Given the description of an element on the screen output the (x, y) to click on. 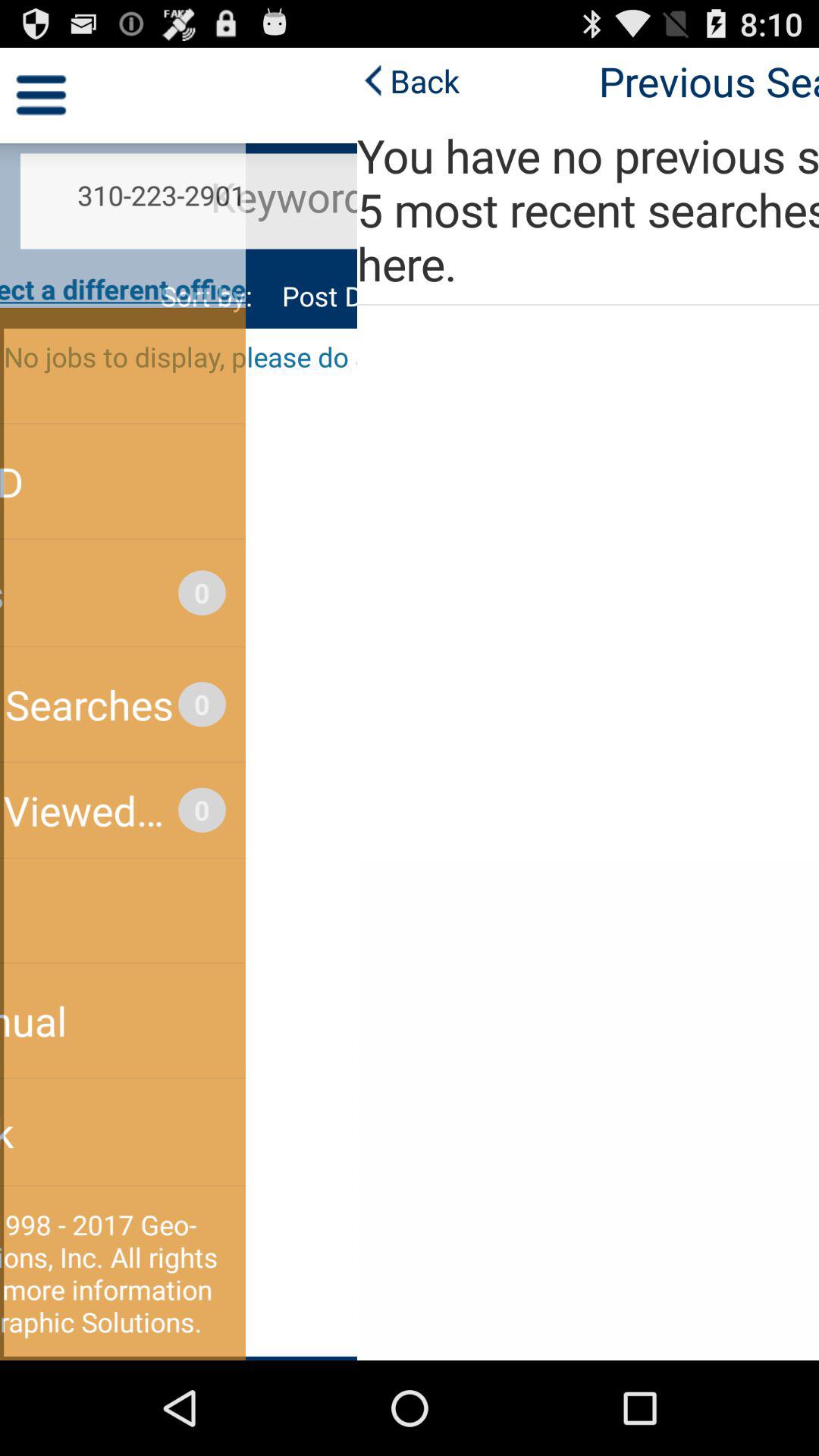
launch the you have no app (409, 209)
